Given the description of an element on the screen output the (x, y) to click on. 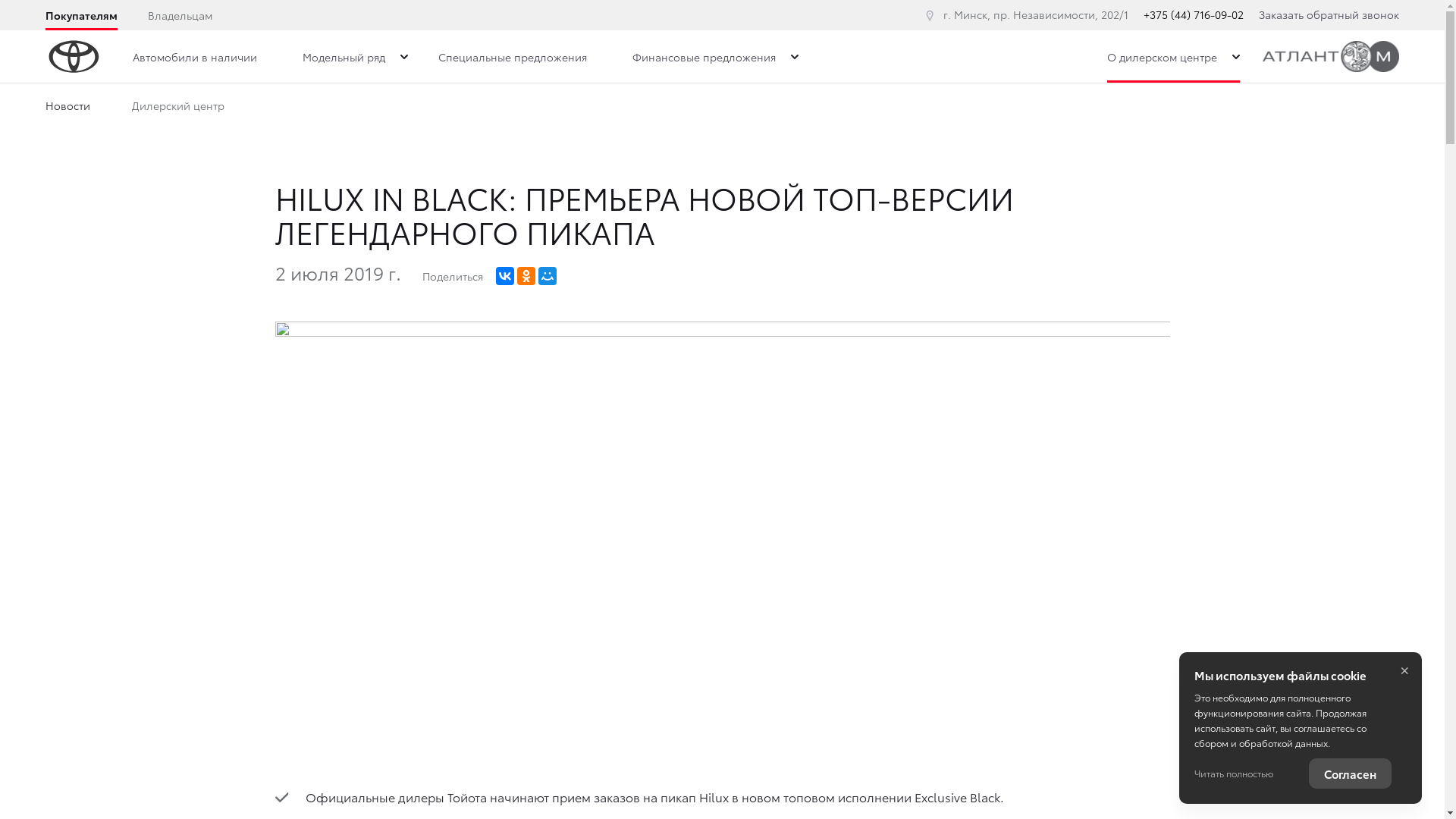
+375 (44) 716-09-02 Element type: text (1193, 13)
